Given the description of an element on the screen output the (x, y) to click on. 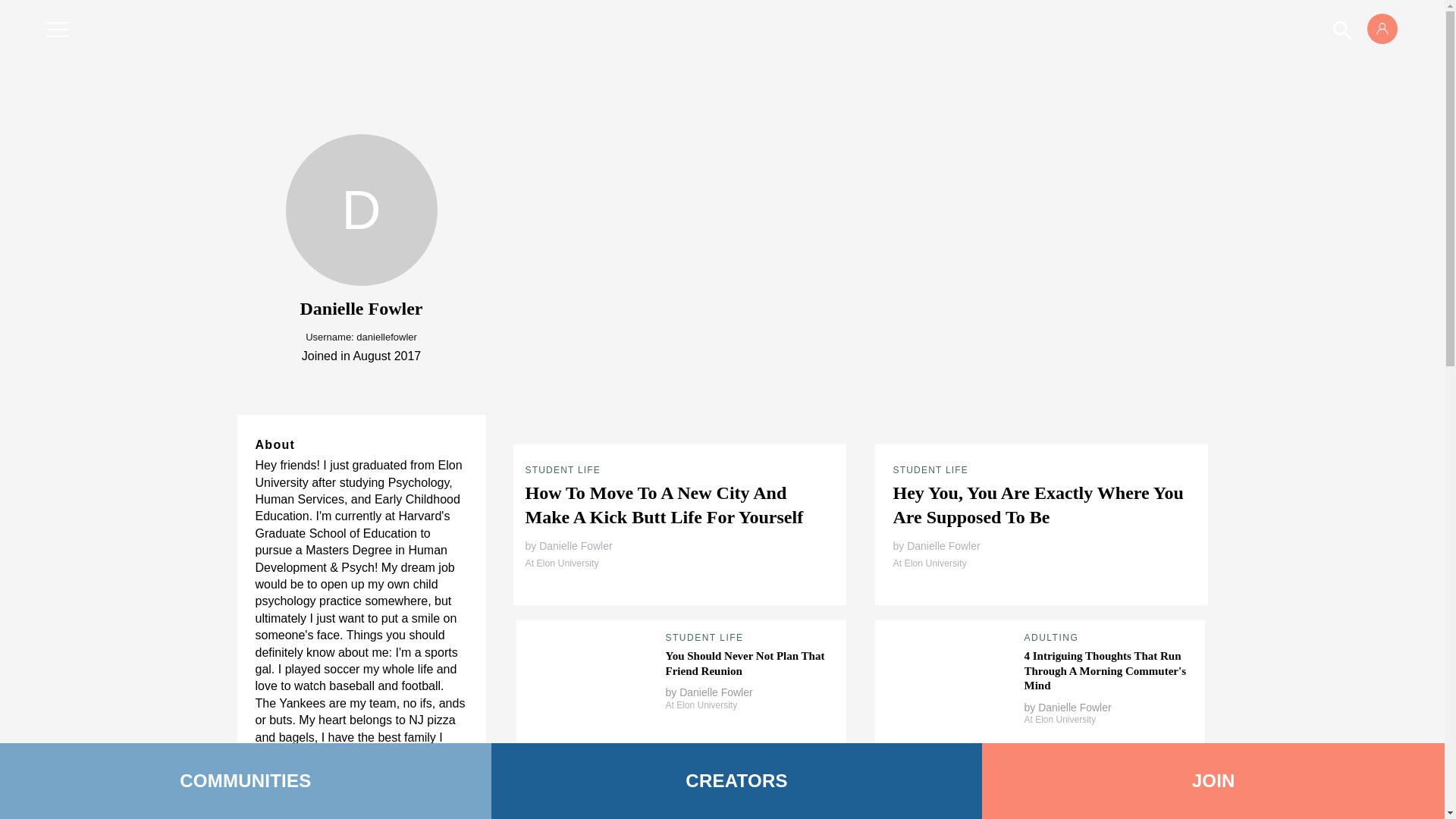
HEALTH AND WELLNESS (730, 780)
You Should Never Not Plan That Friend Reunion (745, 663)
Hey You, You Are Exactly Where You Are Supposed To Be (1038, 505)
Danielle Fowler (715, 692)
Tough Day? You Can Learn When You Give Yourself Grace (748, 806)
ADULTING (1050, 637)
Danielle Fowler (1074, 707)
At Elon University (929, 562)
STUDENT LIFE (704, 637)
Danielle Fowler (943, 545)
Danielle Fowler (574, 545)
STUDENT LIFE (931, 470)
At Elon University (561, 562)
